Given the description of an element on the screen output the (x, y) to click on. 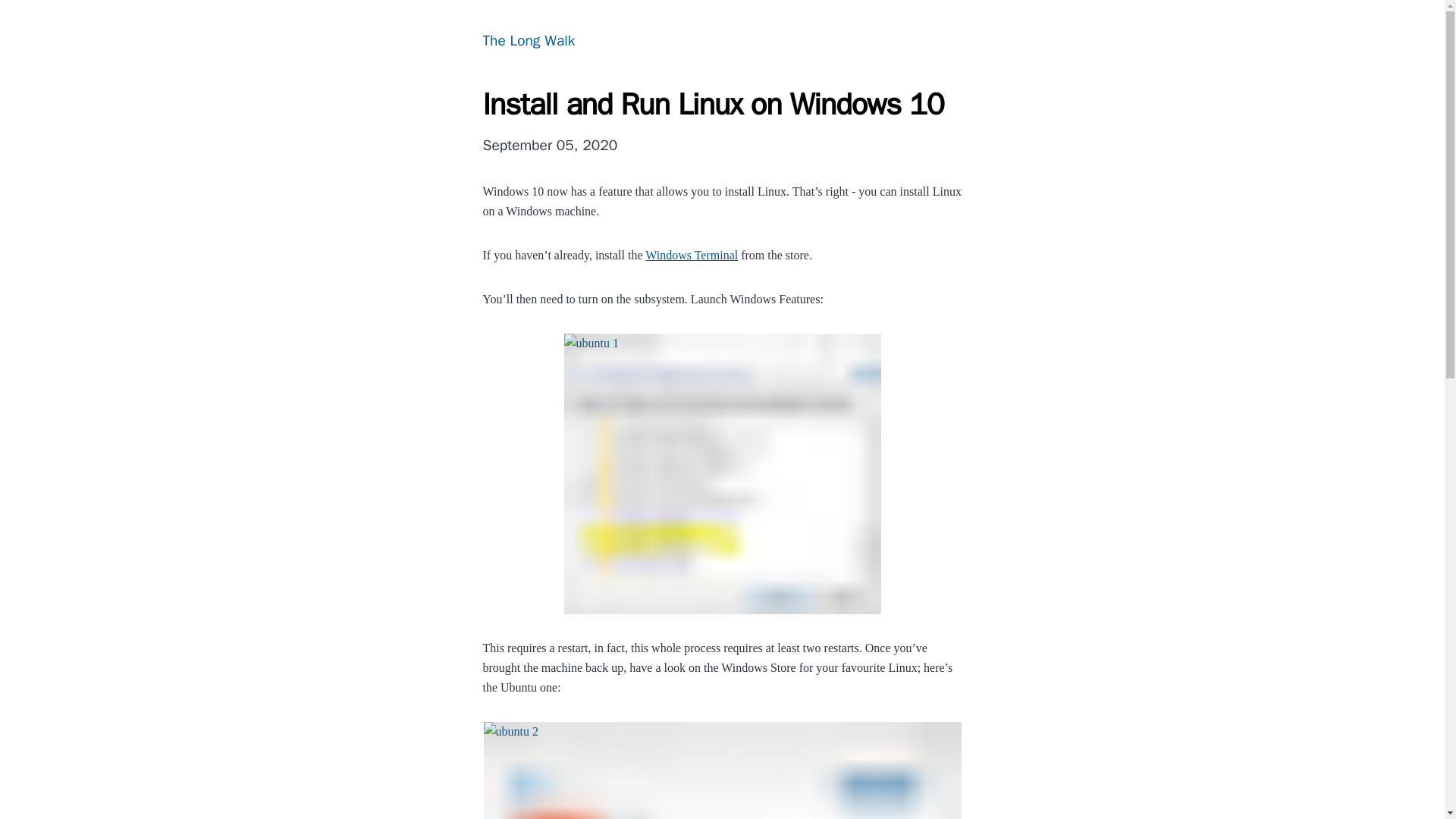
Windows Terminal (691, 254)
ubuntu 2 (721, 770)
ubuntu 1 (722, 473)
The Long Walk (528, 40)
